Given the description of an element on the screen output the (x, y) to click on. 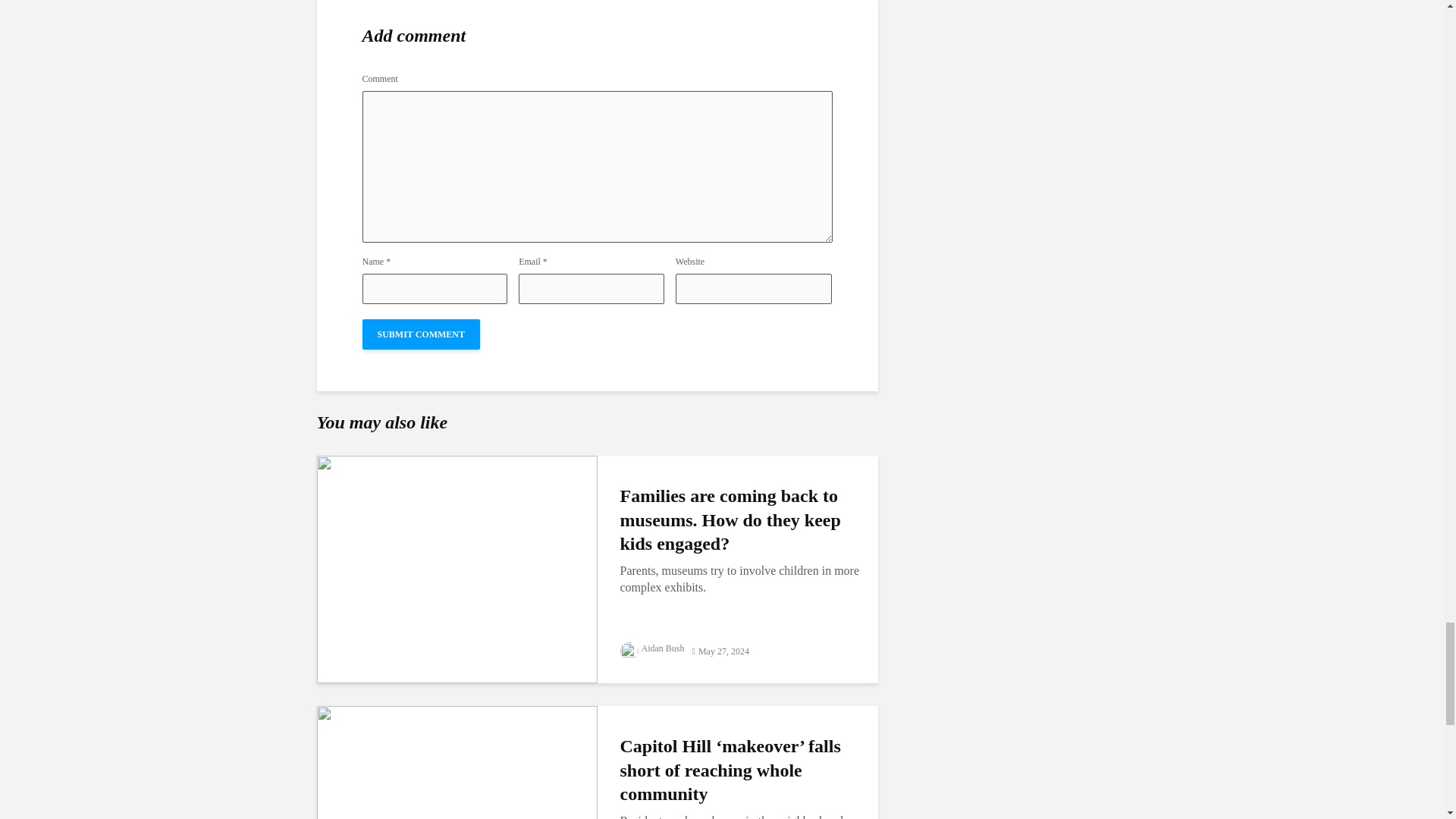
Submit Comment (421, 334)
Submit Comment (421, 334)
Aidan Bush (652, 647)
